Given the description of an element on the screen output the (x, y) to click on. 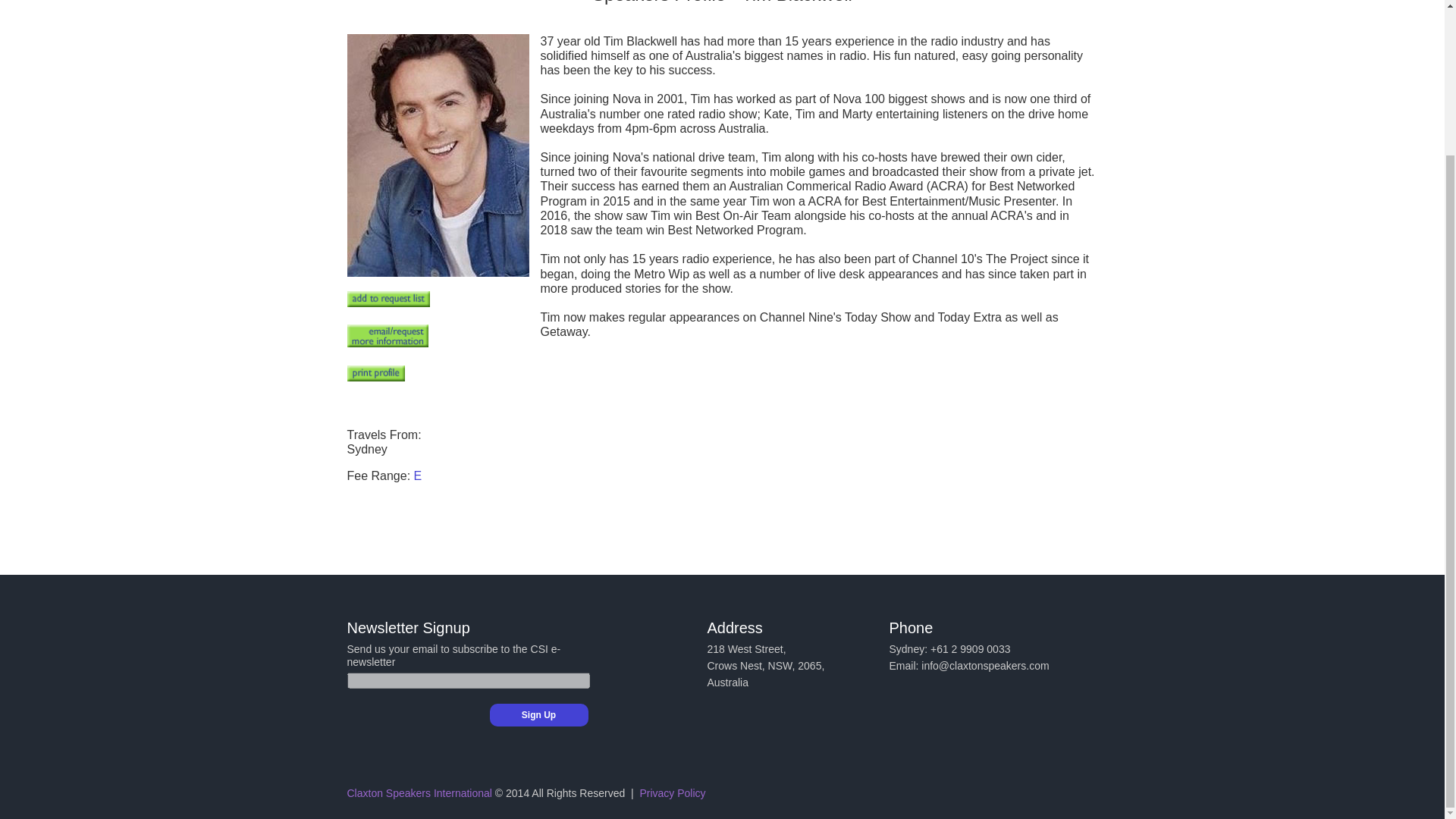
Sign Up (538, 714)
Privacy Policy (671, 793)
Claxton Speakers International (419, 793)
Sign Up (538, 714)
